Given the description of an element on the screen output the (x, y) to click on. 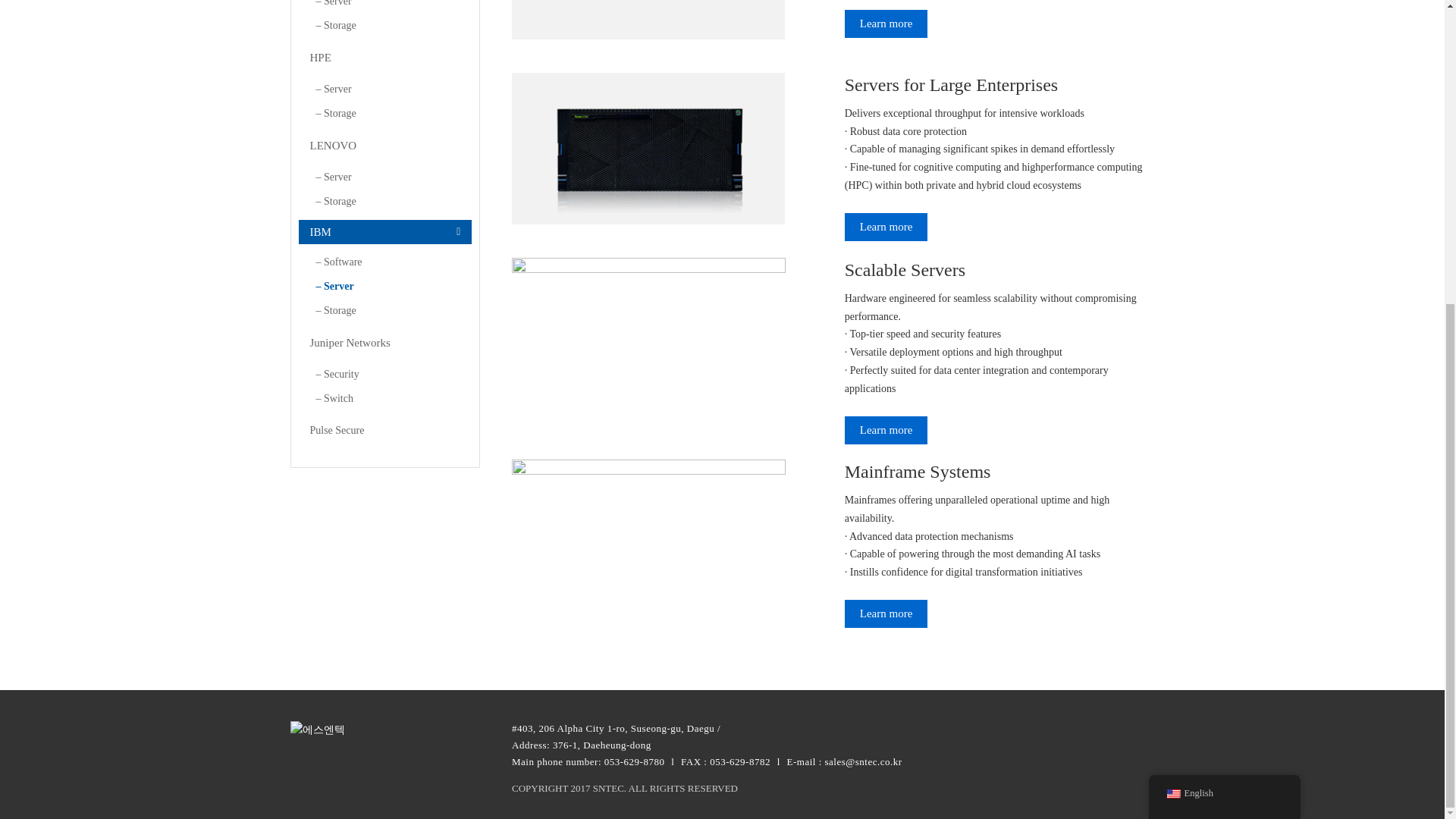
English (1172, 317)
